Given the description of an element on the screen output the (x, y) to click on. 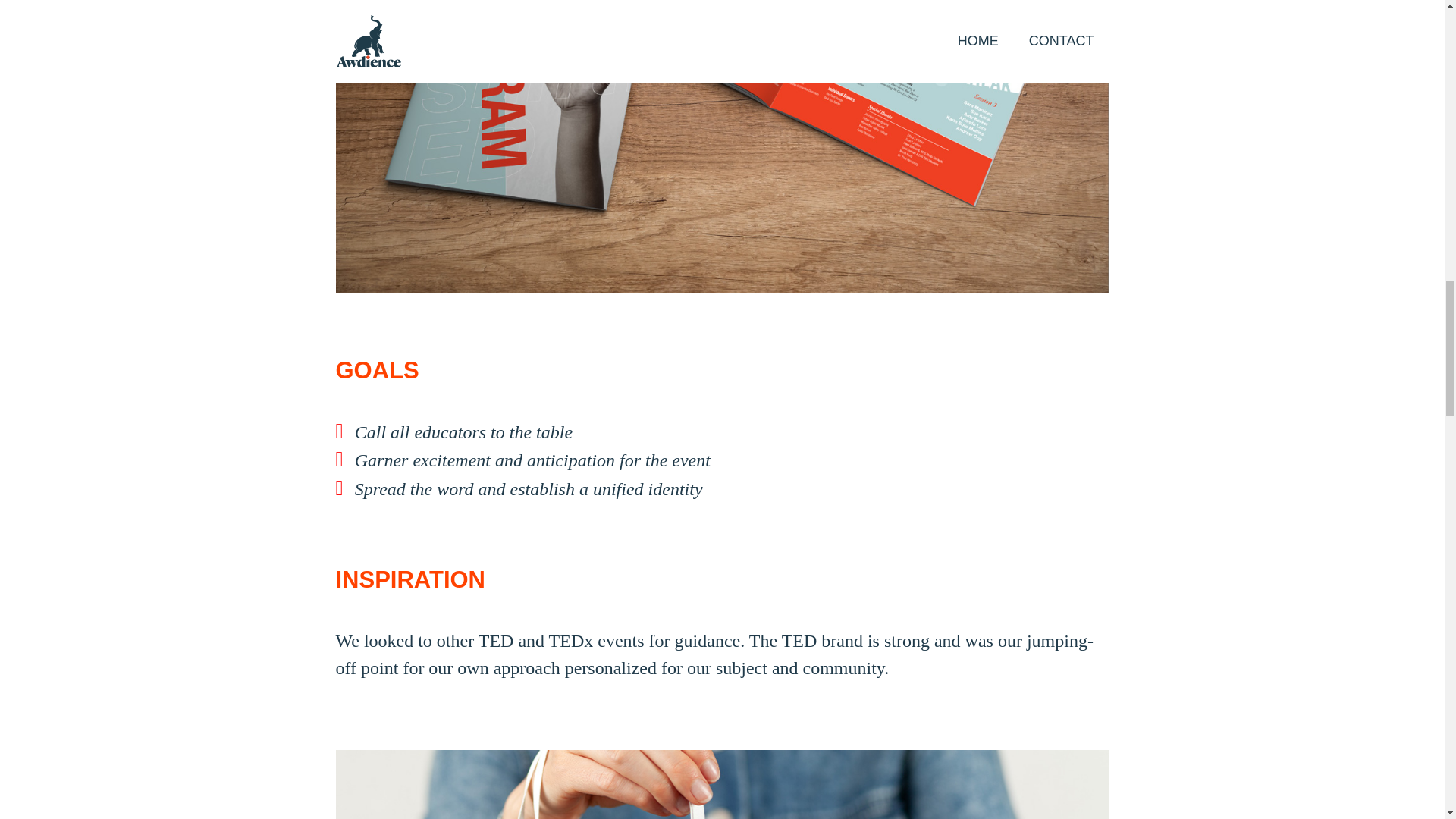
TEDx-Badge (721, 784)
